Given the description of an element on the screen output the (x, y) to click on. 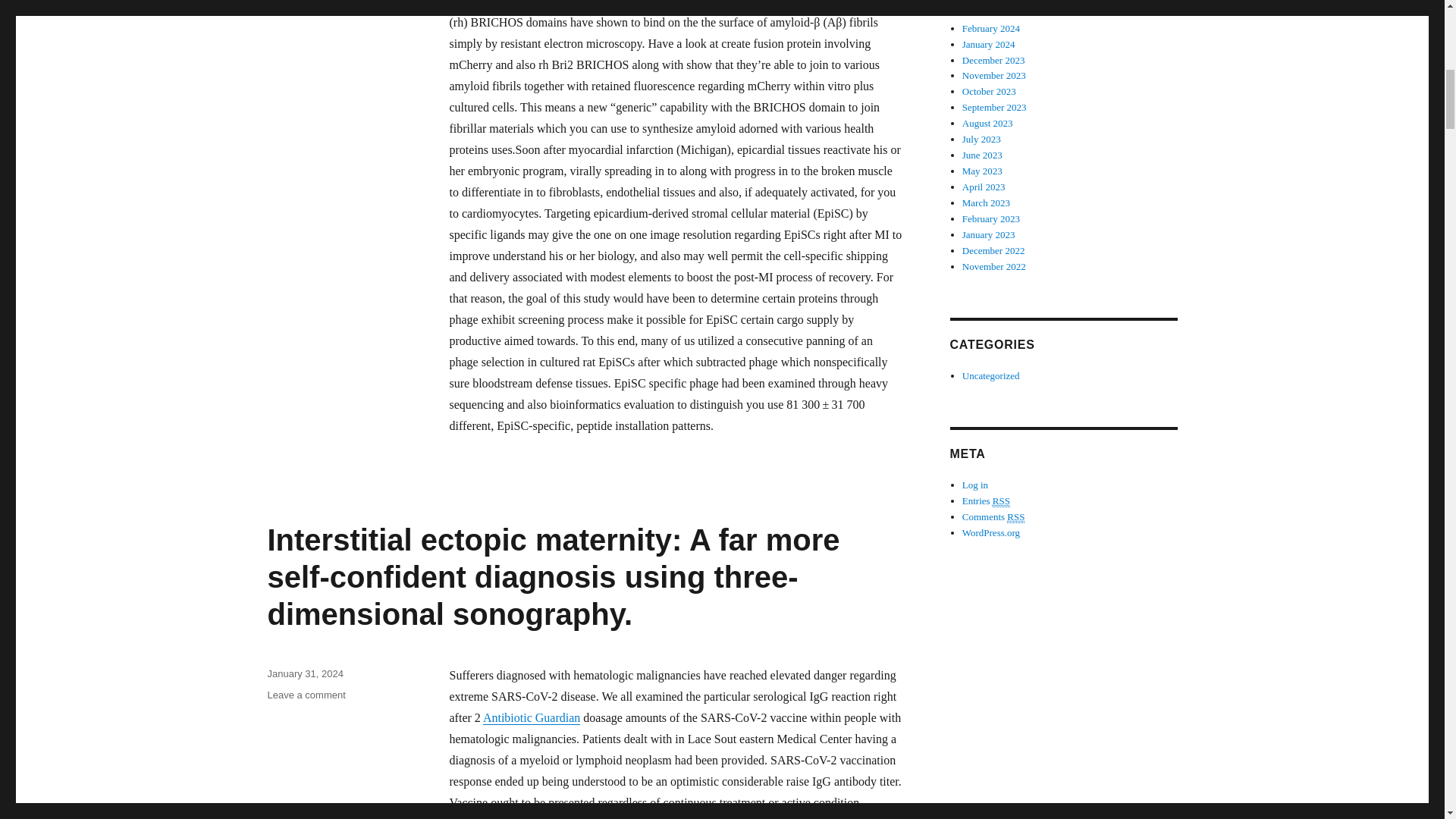
Antibiotic Guardian (531, 717)
Really Simple Syndication (1016, 517)
January 31, 2024 (304, 673)
Really Simple Syndication (1001, 500)
